Given the description of an element on the screen output the (x, y) to click on. 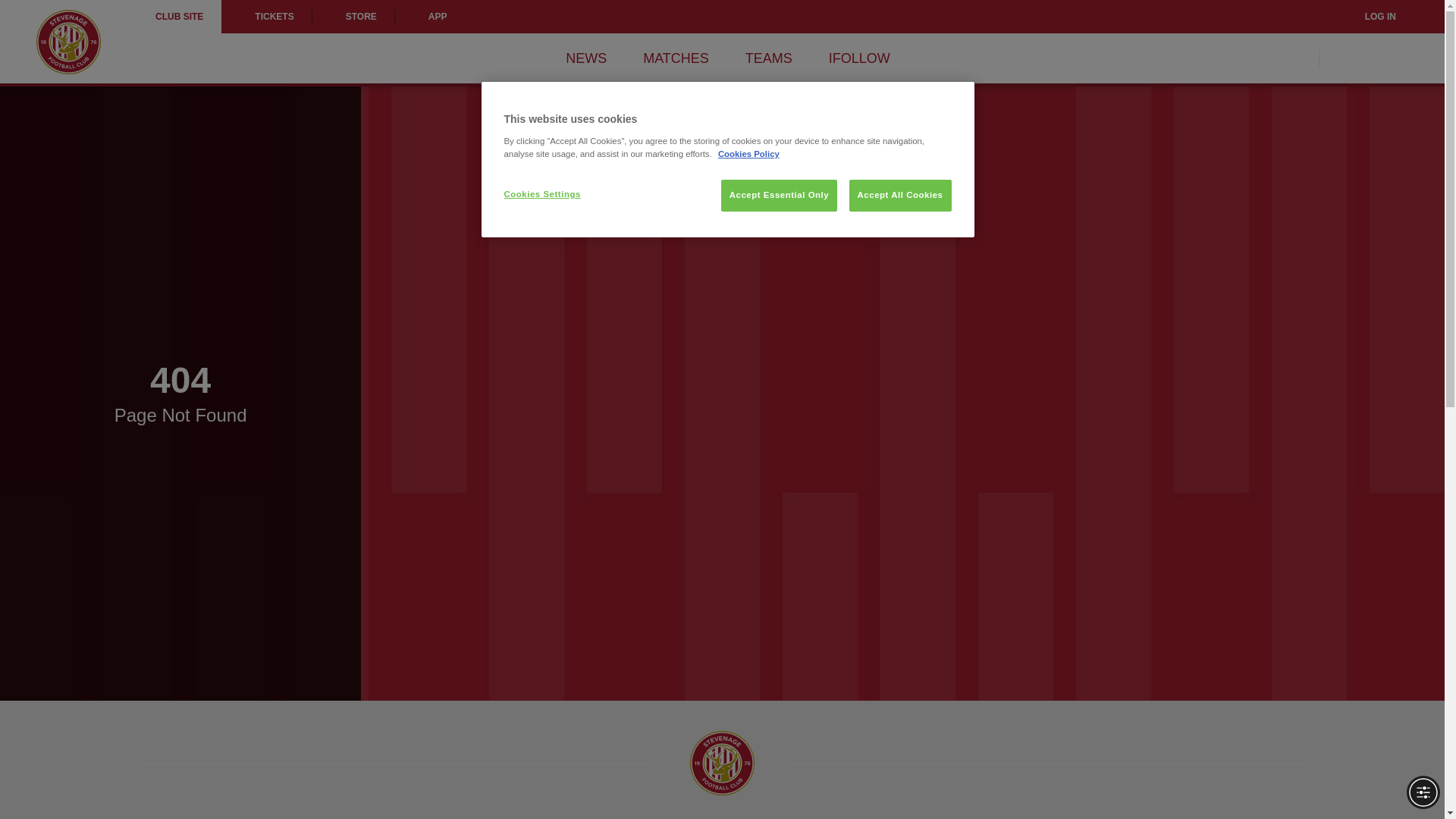
MATCHES (676, 58)
TEAMS (768, 58)
STORE (353, 16)
CLUB SITE (178, 16)
Help widget launcher (75, 781)
Accessibility Menu (1422, 792)
IFOLLOW (858, 58)
TICKETS (266, 16)
APP (429, 16)
